Given the description of an element on the screen output the (x, y) to click on. 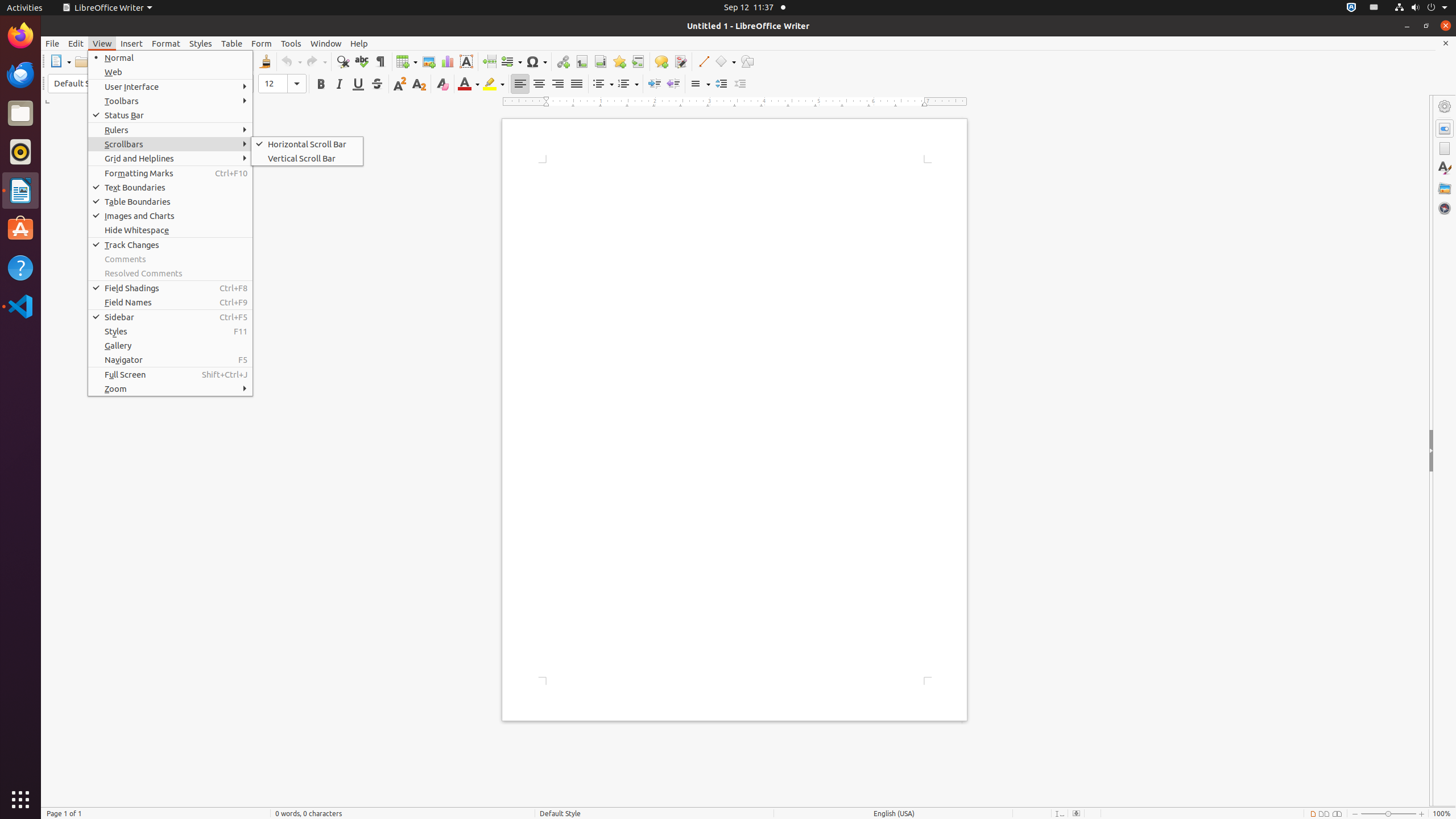
Right Element type: toggle-button (557, 83)
Undo Element type: push-button (290, 61)
Hyperlink Element type: toggle-button (562, 61)
Window Element type: menu (325, 43)
Text Boundaries Element type: check-menu-item (170, 187)
